Given the description of an element on the screen output the (x, y) to click on. 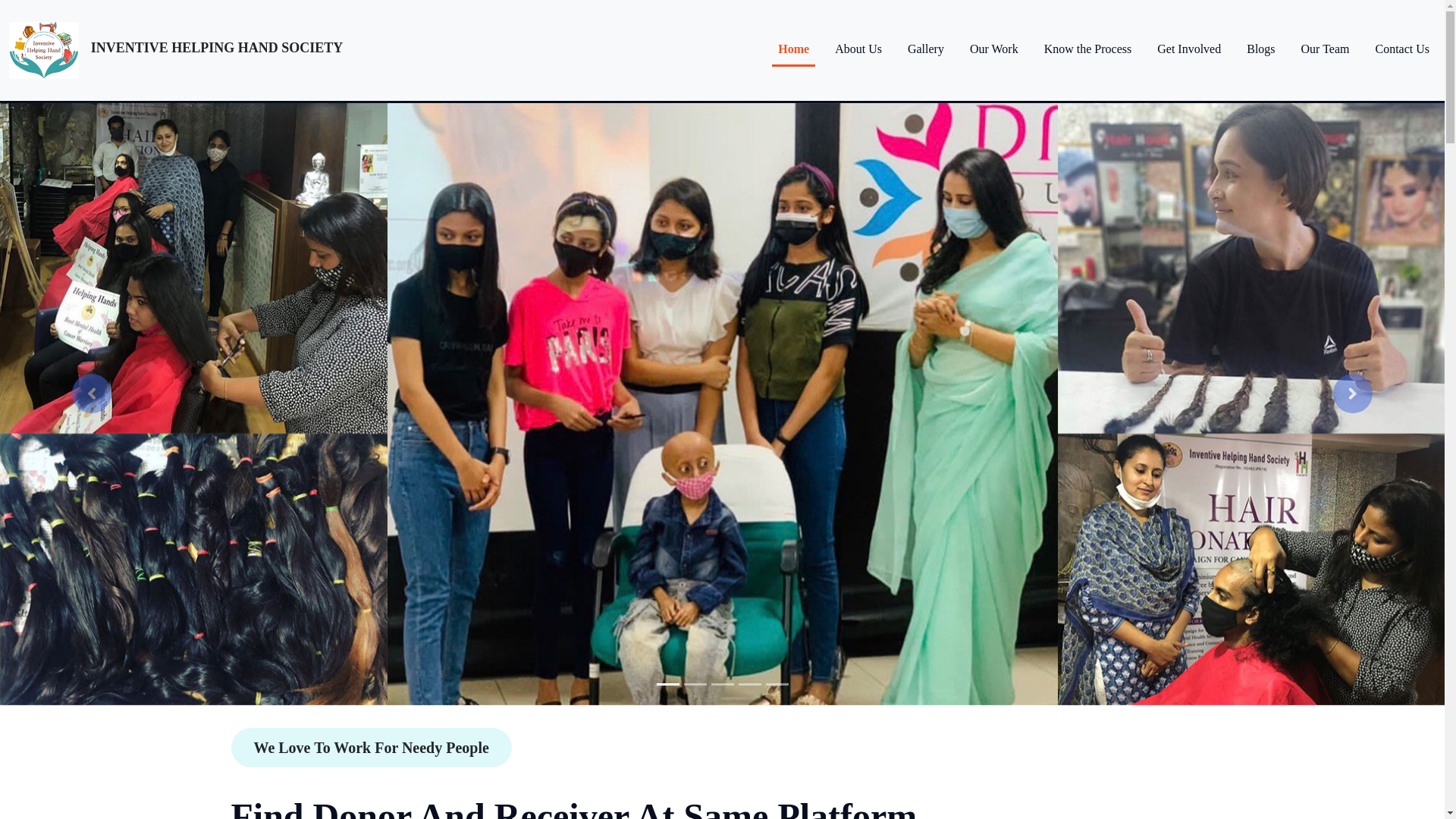
Get Involved (1189, 49)
Blogs (1260, 49)
Our Team (1325, 49)
Know the Process (1088, 49)
About Us (858, 49)
Our Work (994, 49)
Contact Us (1401, 49)
Gallery (925, 49)
Home (793, 50)
